Given the description of an element on the screen output the (x, y) to click on. 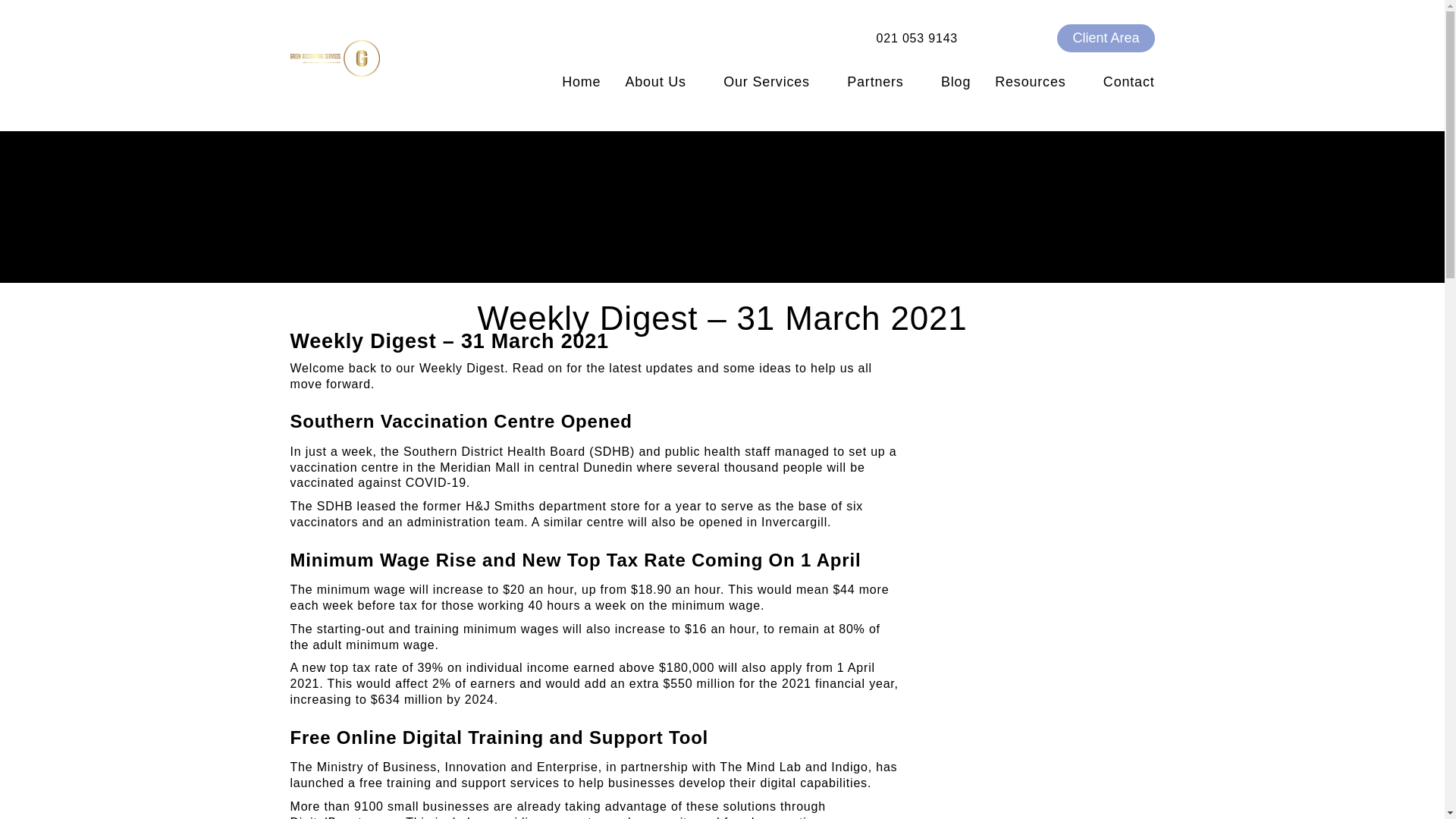
Partners  (881, 82)
Our Services  (772, 82)
vaccination centre in the Meridian Mall in central Dunedin (460, 467)
Resources  (1036, 82)
Home (581, 82)
Our Services (772, 82)
Partners (881, 82)
About Us (661, 82)
Resources (1036, 82)
About Us  (661, 82)
